Given the description of an element on the screen output the (x, y) to click on. 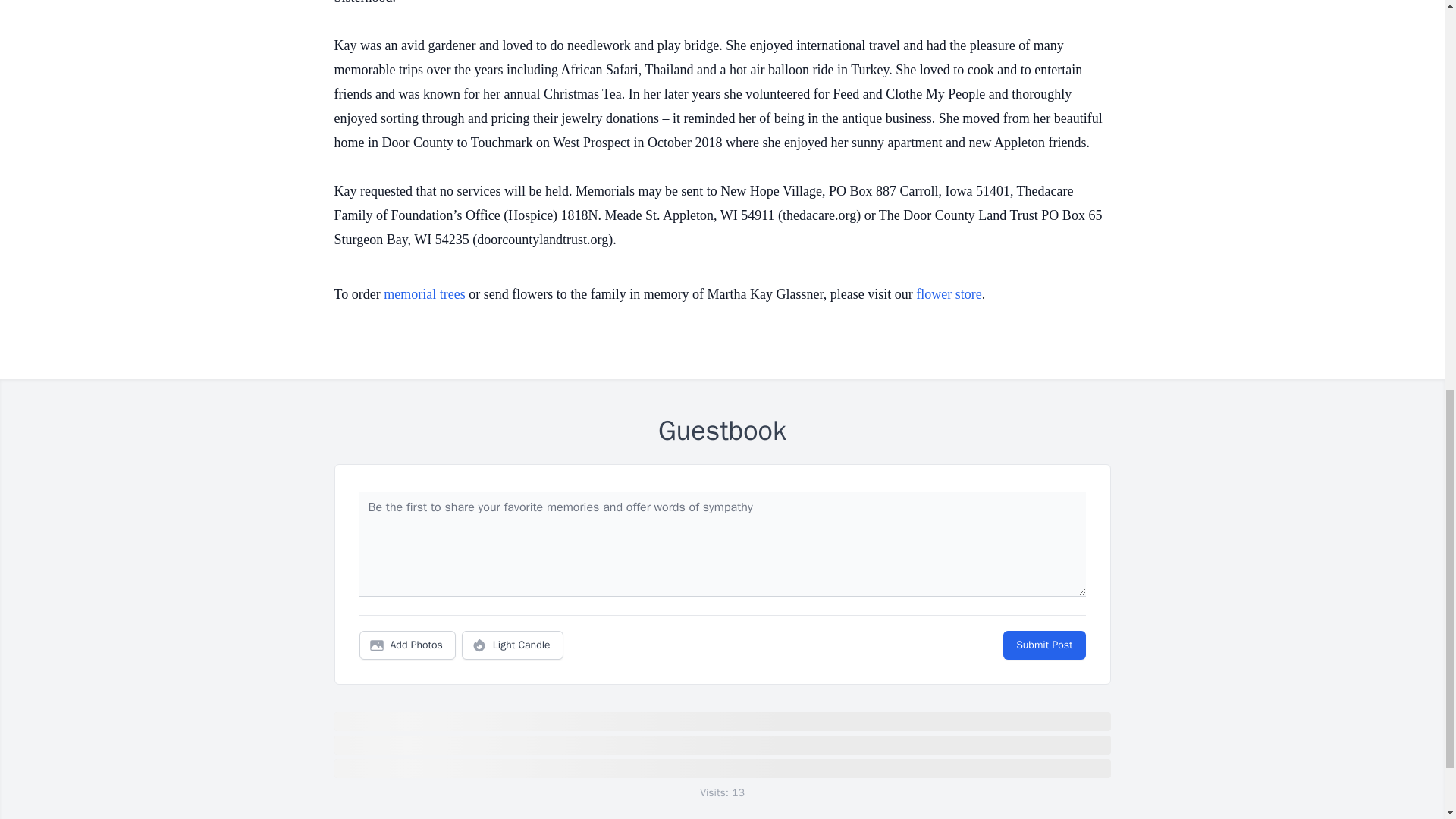
flower store (948, 294)
Add Photos (407, 645)
Light Candle (512, 645)
memorial trees (424, 294)
Submit Post (1043, 645)
